Given the description of an element on the screen output the (x, y) to click on. 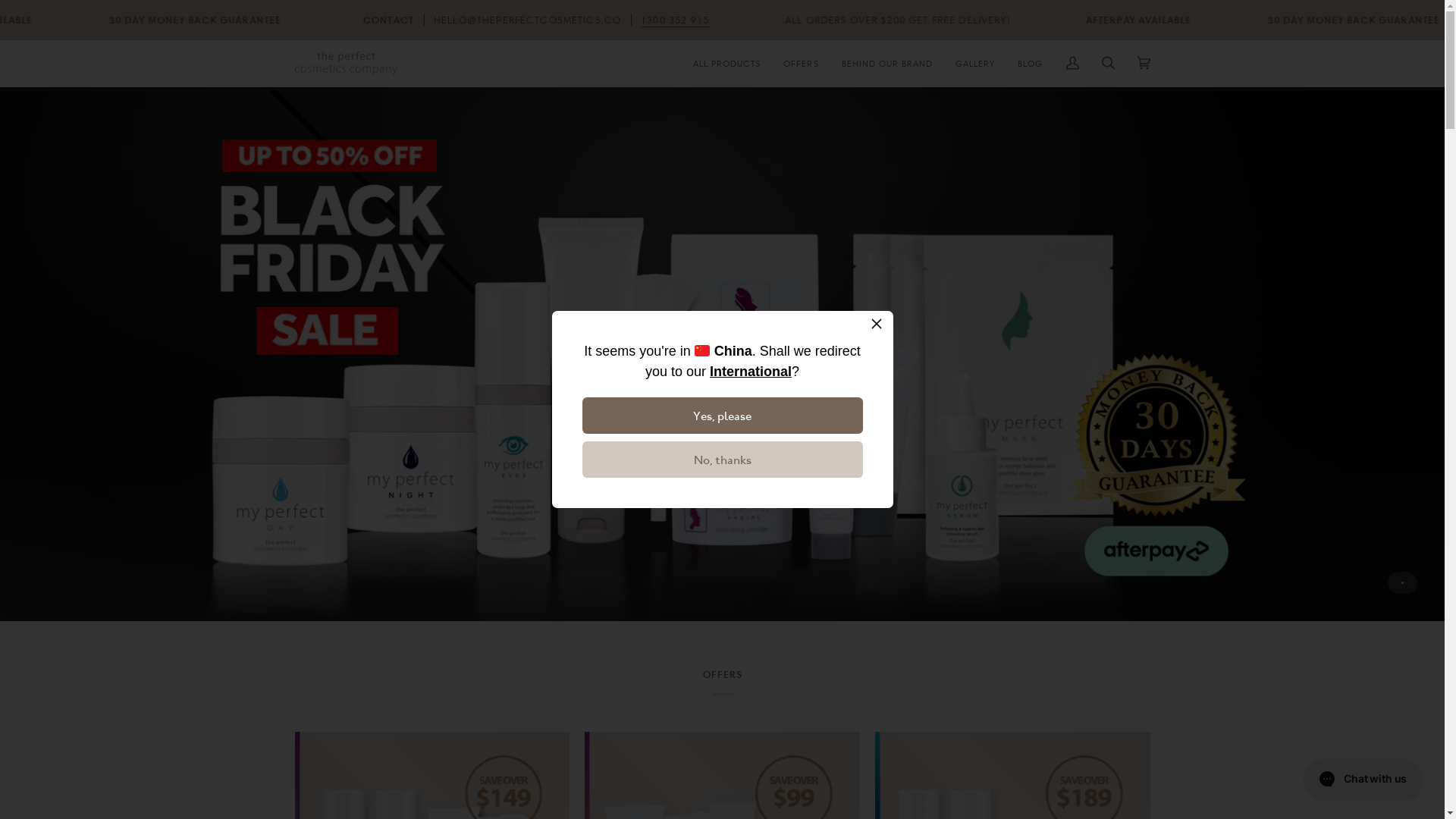
No, thanks Element type: text (722, 459)
View slide 1 Element type: text (1402, 582)
OFFERS Element type: text (800, 63)
Gorgias live chat messenger Element type: hover (1362, 778)
Cart
(0) Element type: text (1143, 63)
BEHIND OUR BRAND Element type: text (887, 63)
GALLERY Element type: text (975, 63)
Search Element type: text (1108, 63)
BLOG Element type: text (1030, 63)
My Account Element type: text (1071, 63)
International Element type: text (750, 371)
ALL PRODUCTS Element type: text (726, 63)
1300 352 915 Element type: text (1065, 19)
Yes, please Element type: text (722, 415)
